Given the description of an element on the screen output the (x, y) to click on. 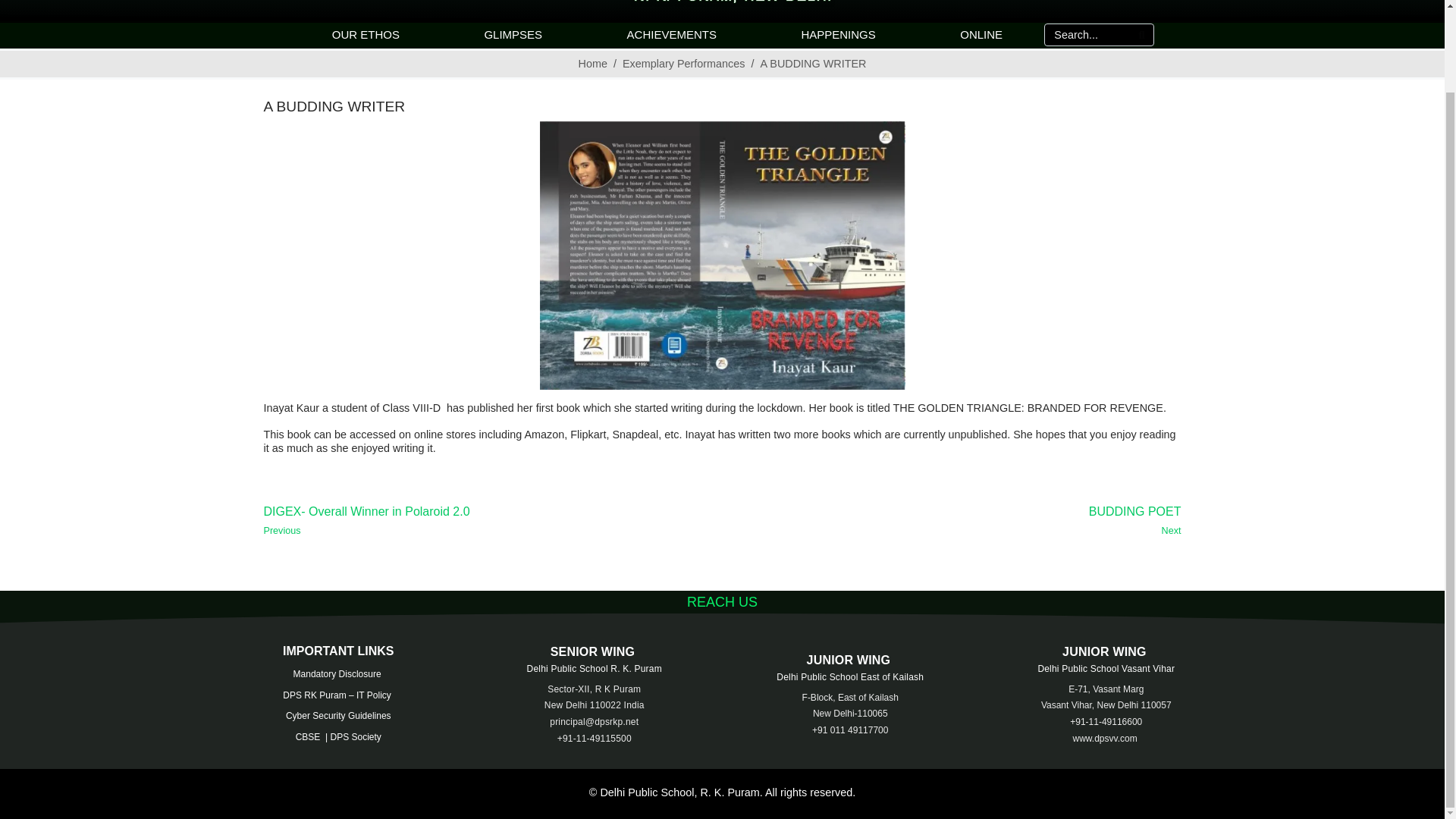
DIGEX- Overall Winner in Polaroid 2.0 (486, 520)
BUDDING POET (957, 520)
